Given the description of an element on the screen output the (x, y) to click on. 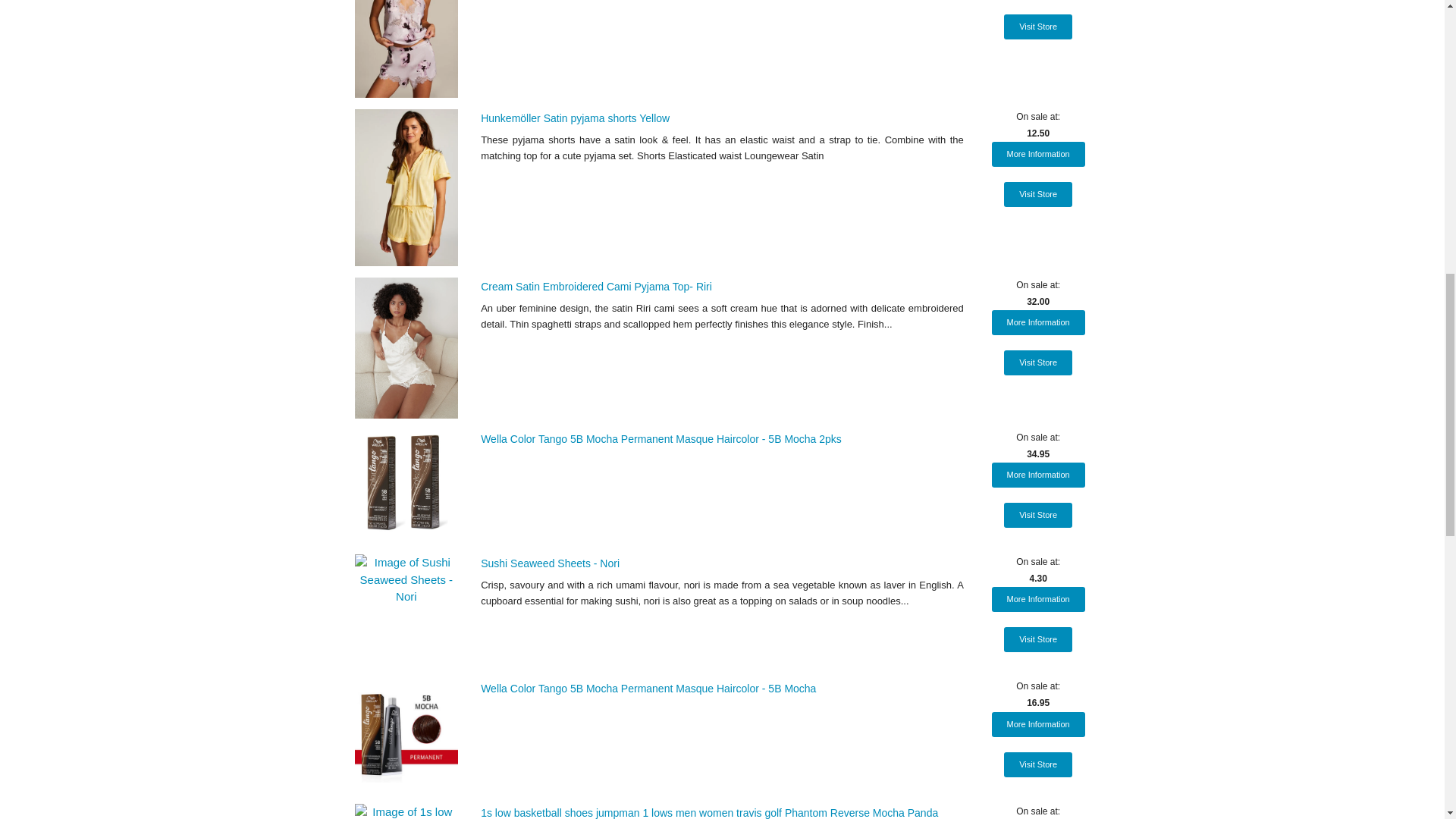
Visit Store (1037, 514)
More Information (1037, 599)
Visit Store (1037, 362)
More Information (1037, 474)
Visit Store (1037, 26)
Sushi Seaweed Sheets - Nori (550, 563)
Visit Store (1037, 639)
Visit Store (1037, 194)
More Information (1037, 322)
